Given the description of an element on the screen output the (x, y) to click on. 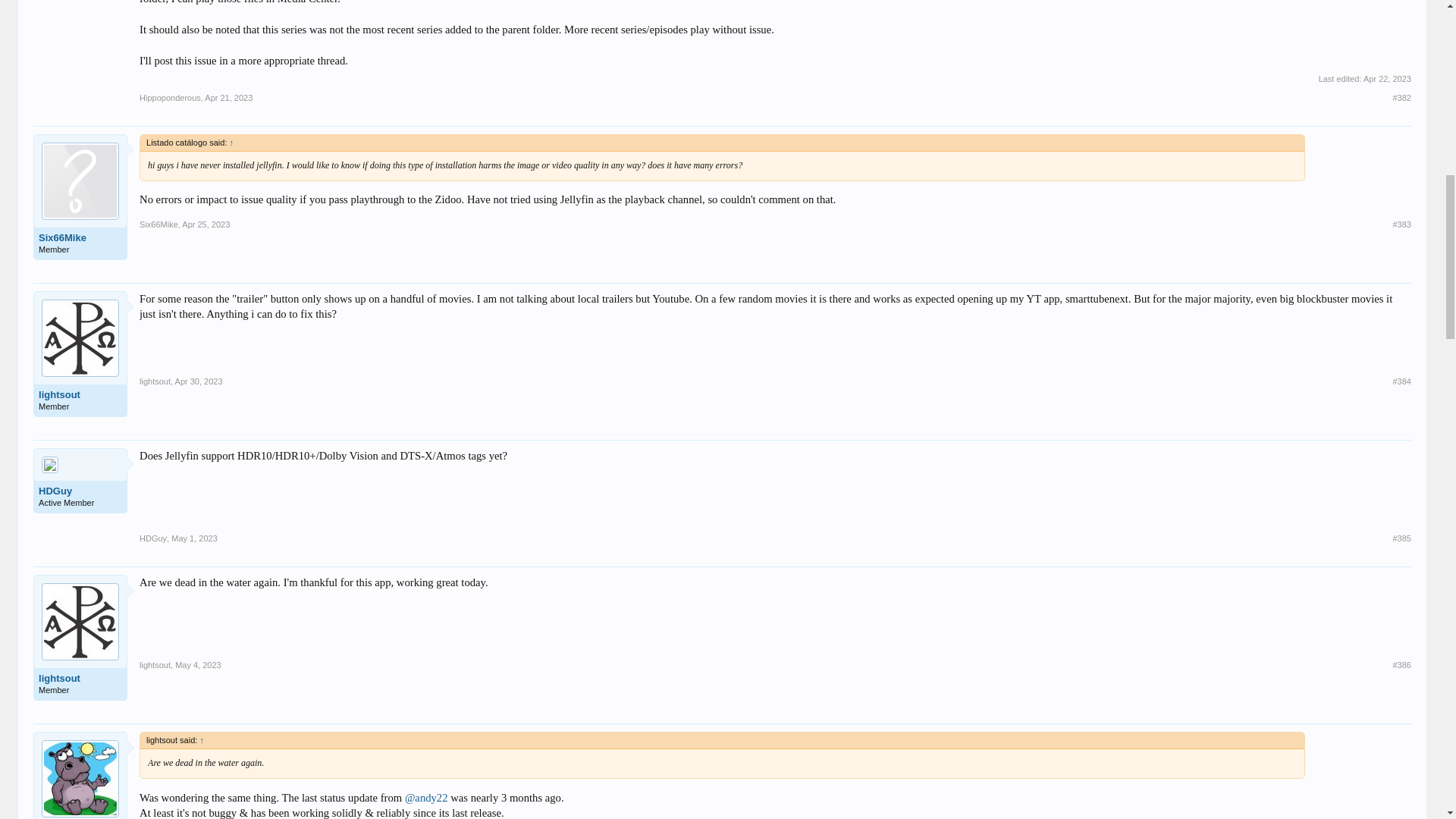
Apr 22, 2023 at 1:52 AM (1386, 78)
Permalink (193, 537)
Permalink (1400, 97)
Permalink (198, 380)
Permalink (206, 224)
Permalink (1400, 224)
Six66Mike (80, 237)
Hippoponderous (169, 97)
Permalink (197, 664)
Permalink (1400, 380)
Six66Mike (158, 224)
Permalink (1400, 538)
Apr 21, 2023 (228, 97)
Permalink (228, 97)
